Given the description of an element on the screen output the (x, y) to click on. 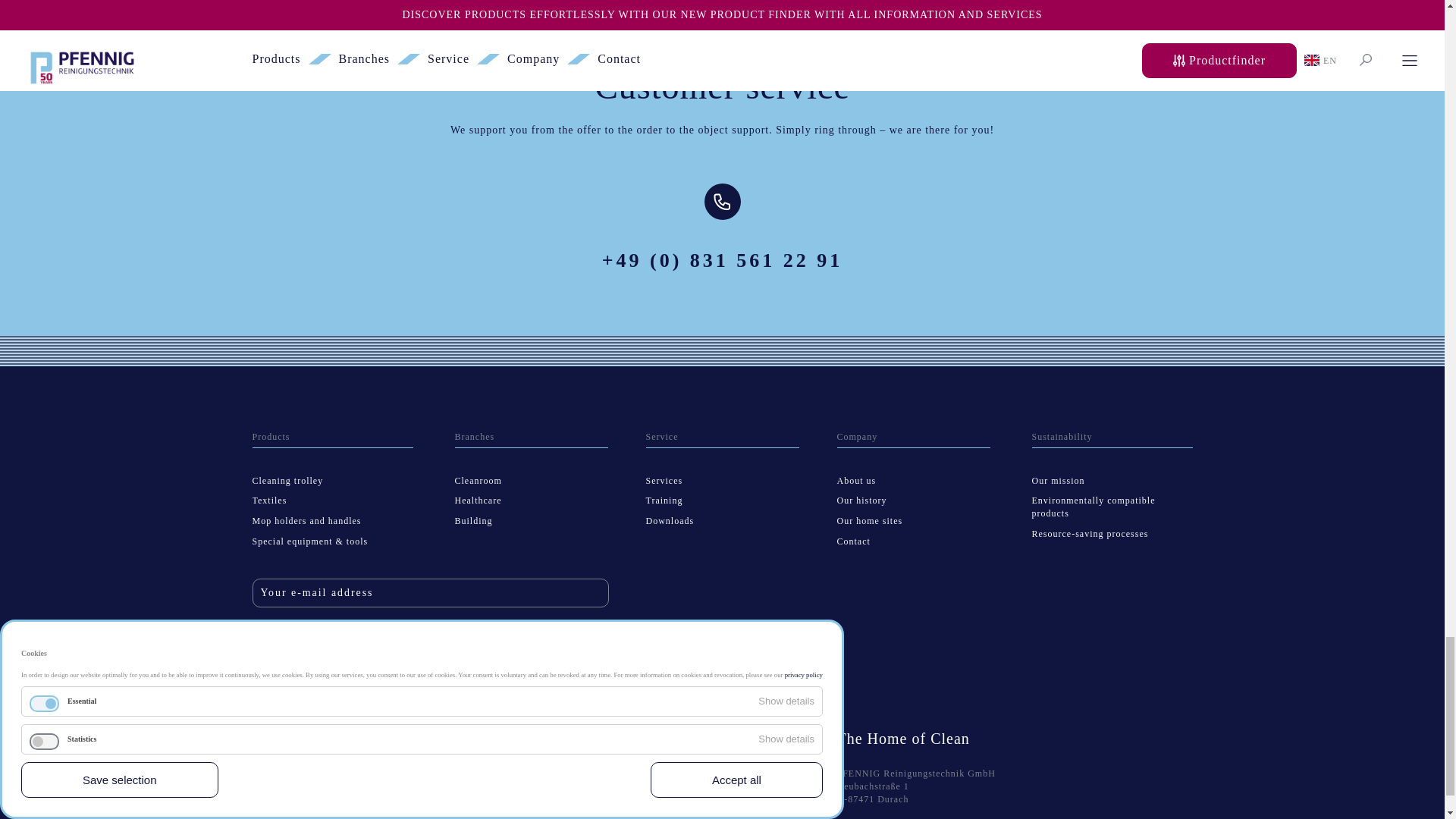
Cleanroom - PFENNIG Reinigungstechnik (478, 480)
Mop holders and handles (306, 520)
Branches - PFENNIG Reinigungstechnik (474, 436)
Training - PFENNIG Reinigungstechnik (664, 500)
Building - PFENNIG Reinigungstechnik (473, 520)
Downloads - PFENNIG Reinigungstechnik (670, 520)
Cleaning trolley - PFENNIG Reinigungstechnik (287, 480)
Textiles -PFENNIG Reinigungstechnik (268, 500)
Service - PFENNIG Reinigungstechnik (662, 436)
Healthcare - PFENNIG Reinigungstechnik (478, 500)
